Given the description of an element on the screen output the (x, y) to click on. 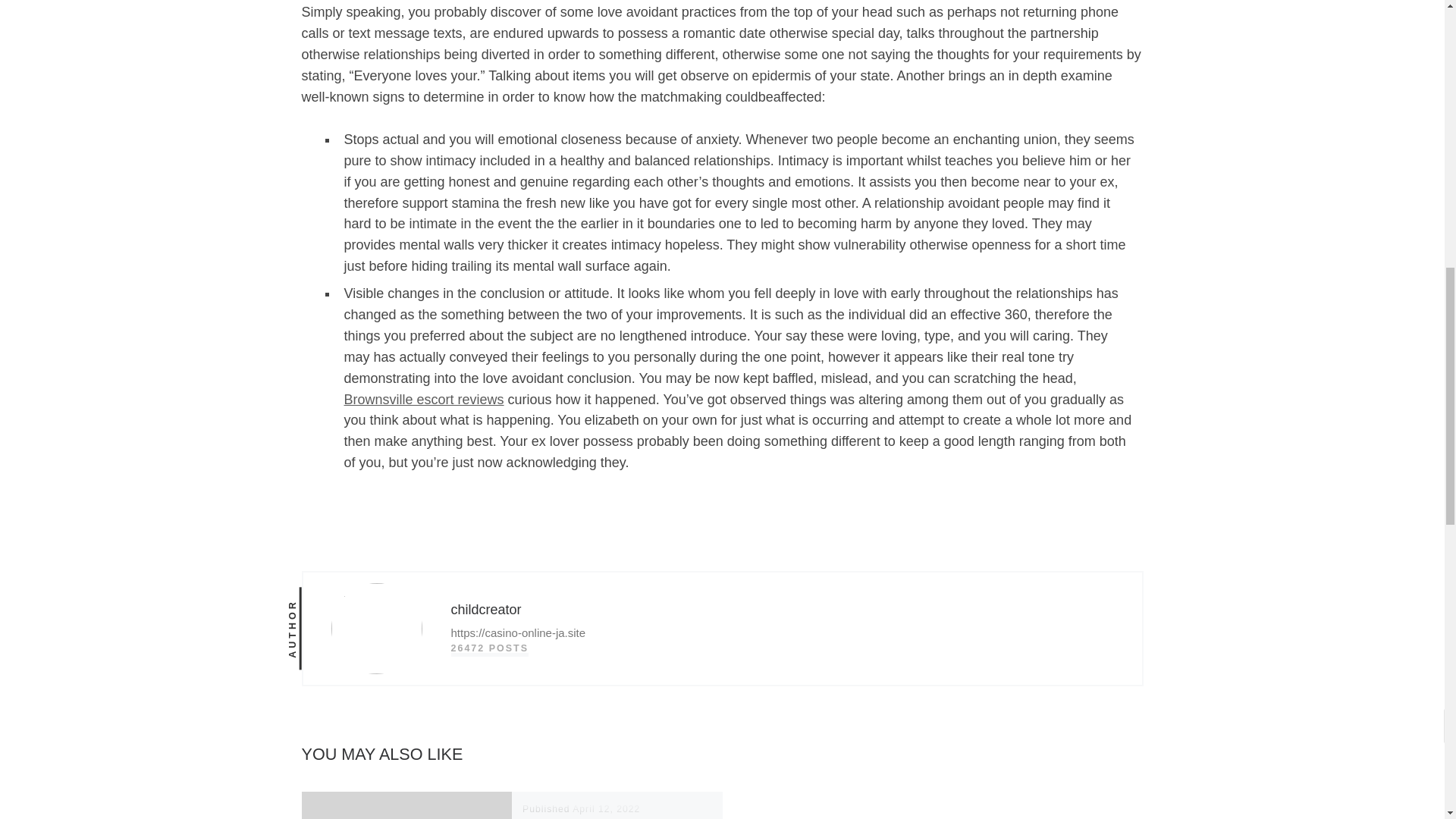
April 12, 2022 (606, 808)
26472 POSTS (488, 648)
Brownsville escort reviews (423, 399)
View all the posts of the author (488, 648)
